Given the description of an element on the screen output the (x, y) to click on. 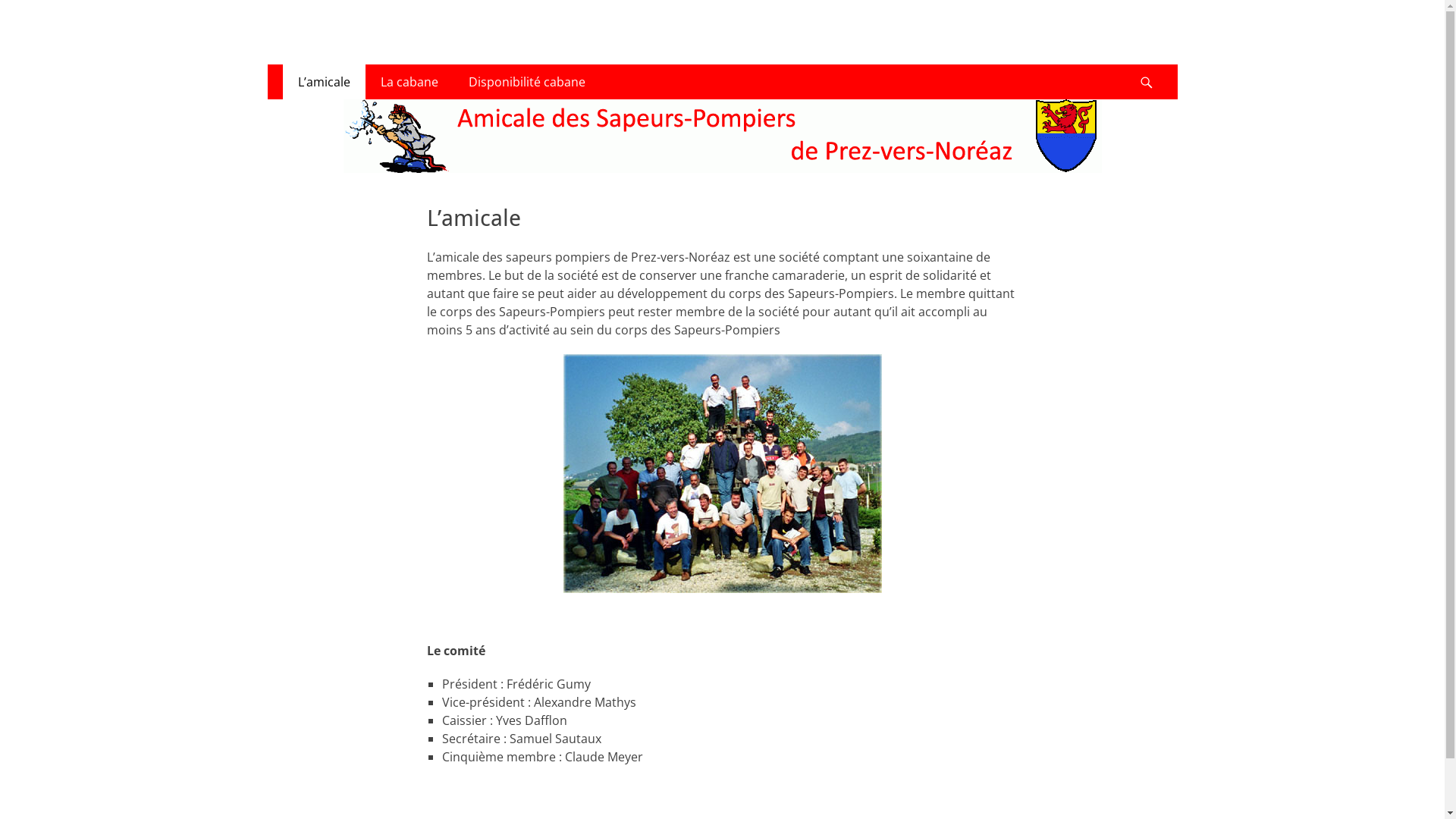
Recherche Element type: text (1154, 64)
La cabane Element type: text (409, 81)
